Given the description of an element on the screen output the (x, y) to click on. 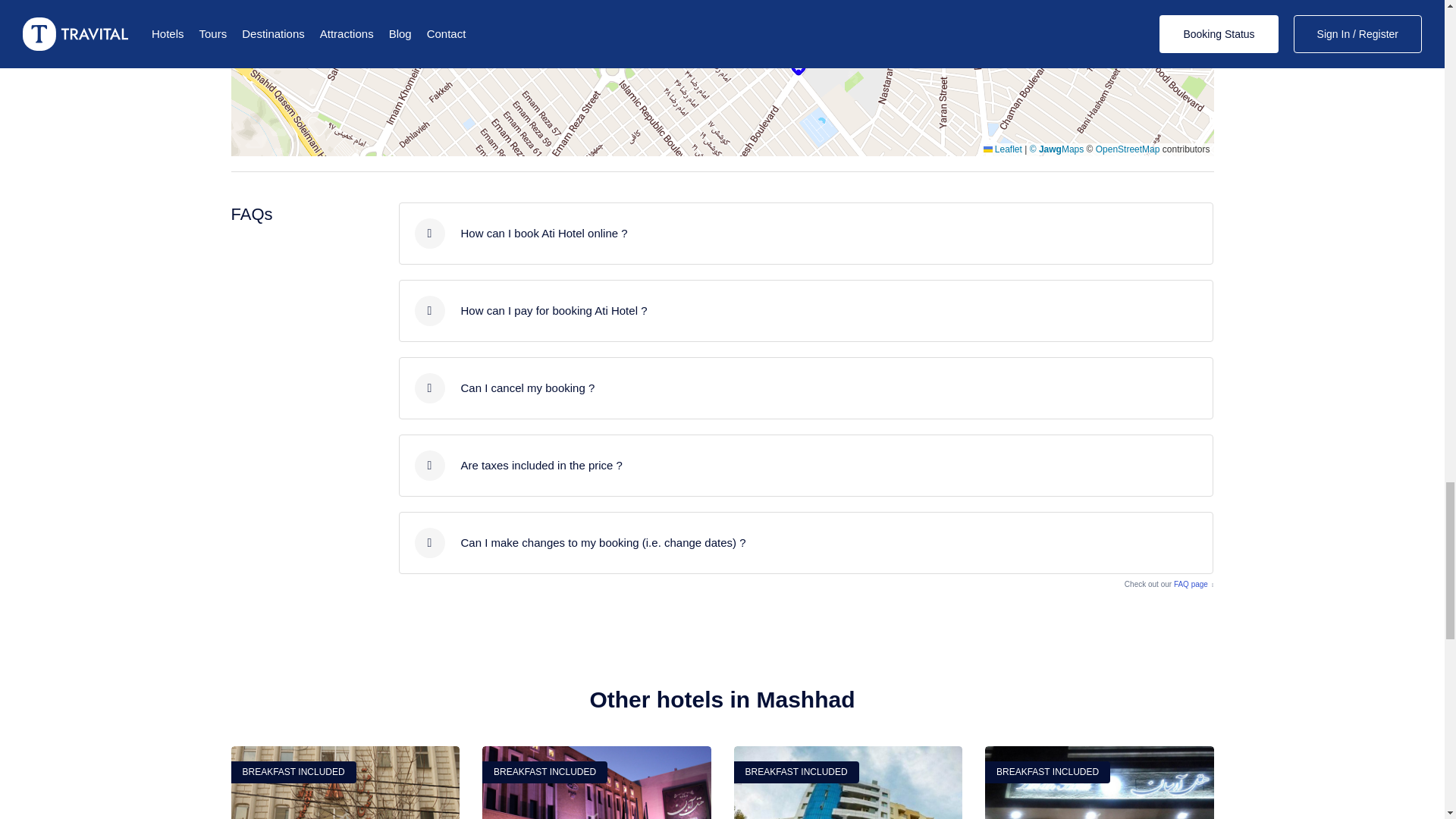
Leaflet (1002, 149)
Tiles Courtesy of Jawg Maps (1056, 149)
A JavaScript library for interactive maps (1002, 149)
